Given the description of an element on the screen output the (x, y) to click on. 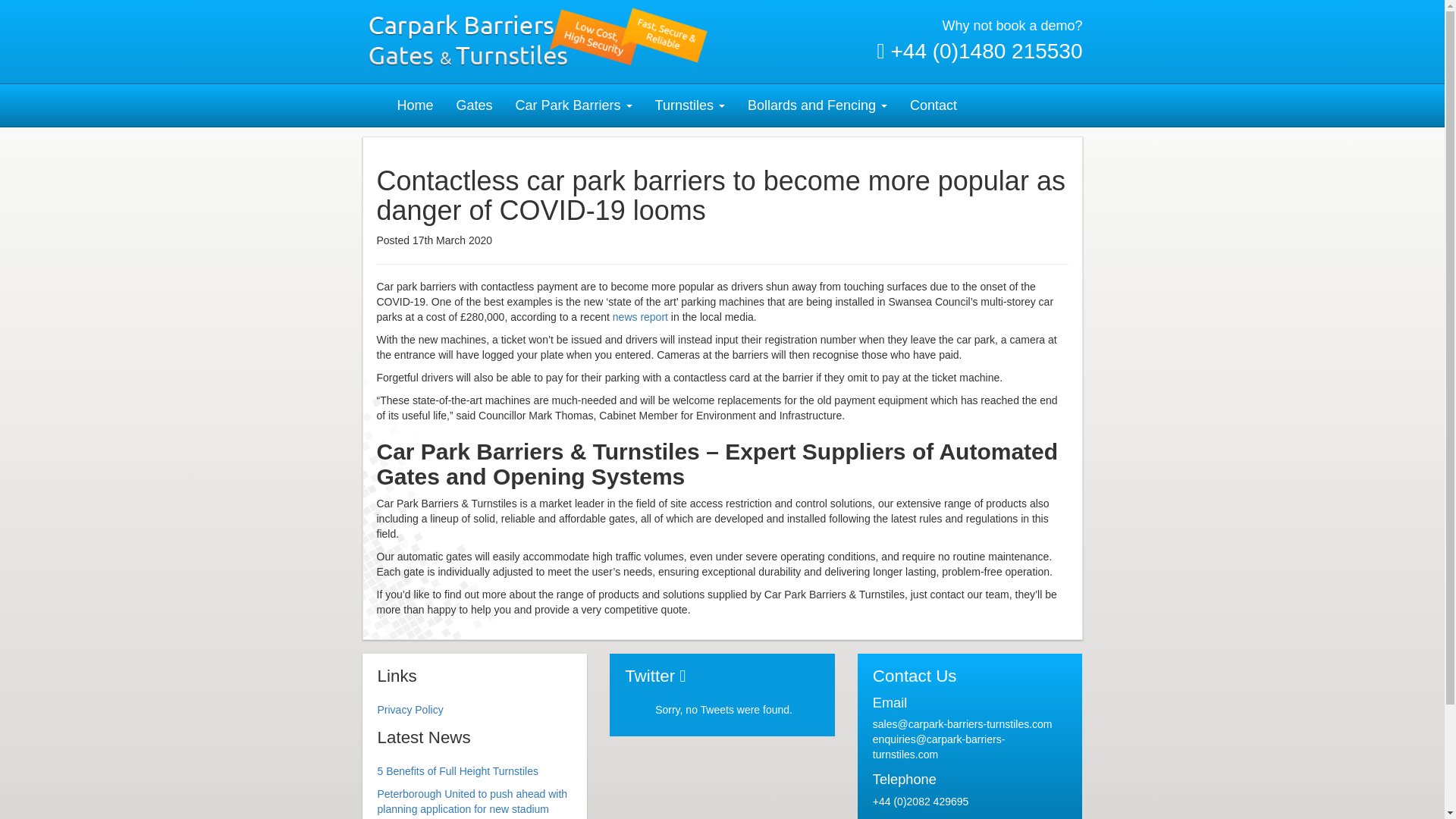
Privacy Policy (410, 709)
news report (641, 316)
Car Park Barriers (573, 105)
Turnstiles (689, 105)
Gates (474, 105)
Gates (474, 105)
Turnstiles (689, 105)
Bollards and Fencing (817, 105)
Contact (933, 105)
